Given the description of an element on the screen output the (x, y) to click on. 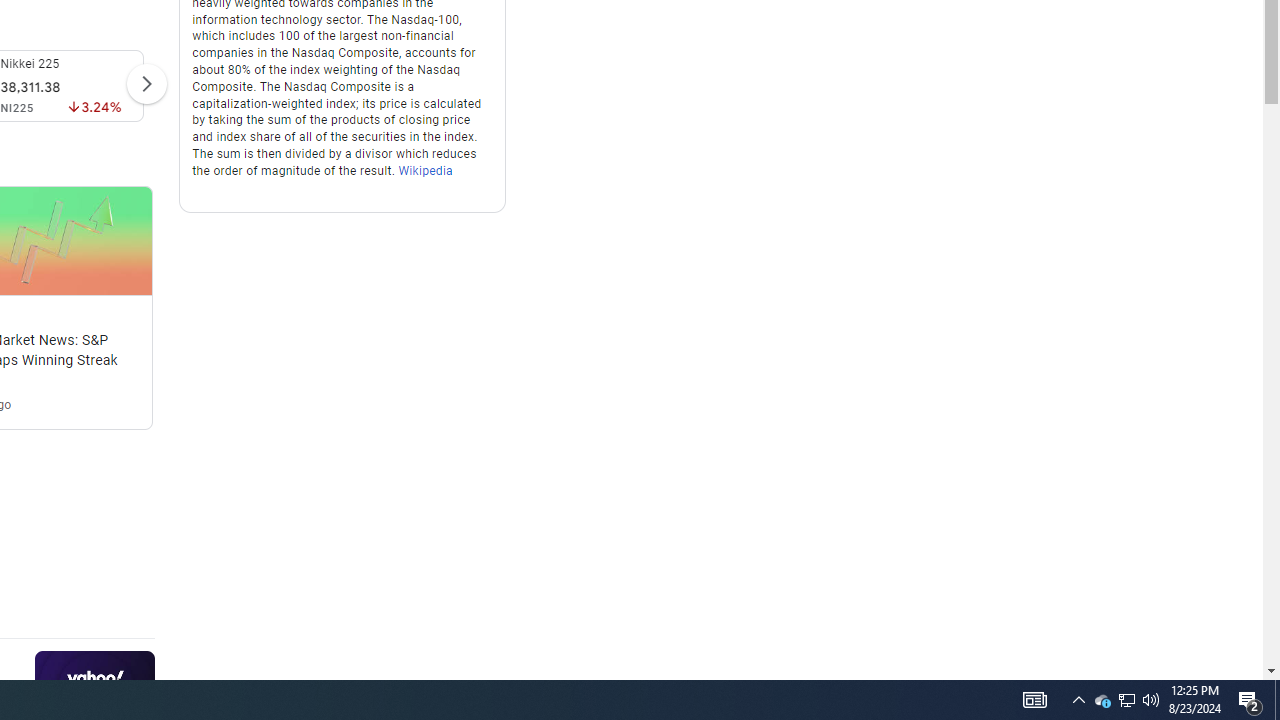
Wikipedia (425, 169)
